Given the description of an element on the screen output the (x, y) to click on. 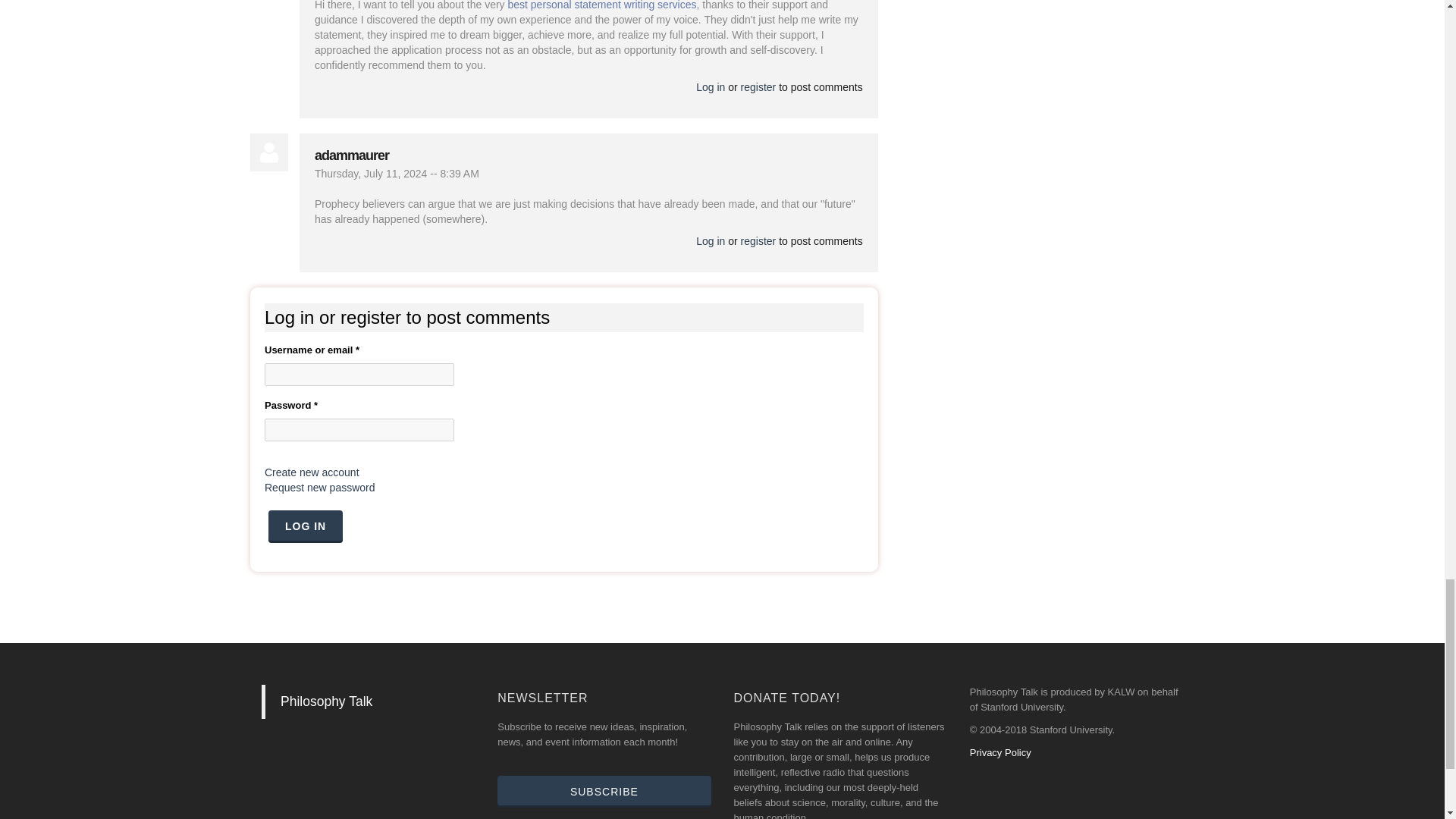
Log in (304, 526)
Request new password via e-mail. (319, 487)
Create a new user account. (311, 472)
adammaurer's picture (269, 152)
